Given the description of an element on the screen output the (x, y) to click on. 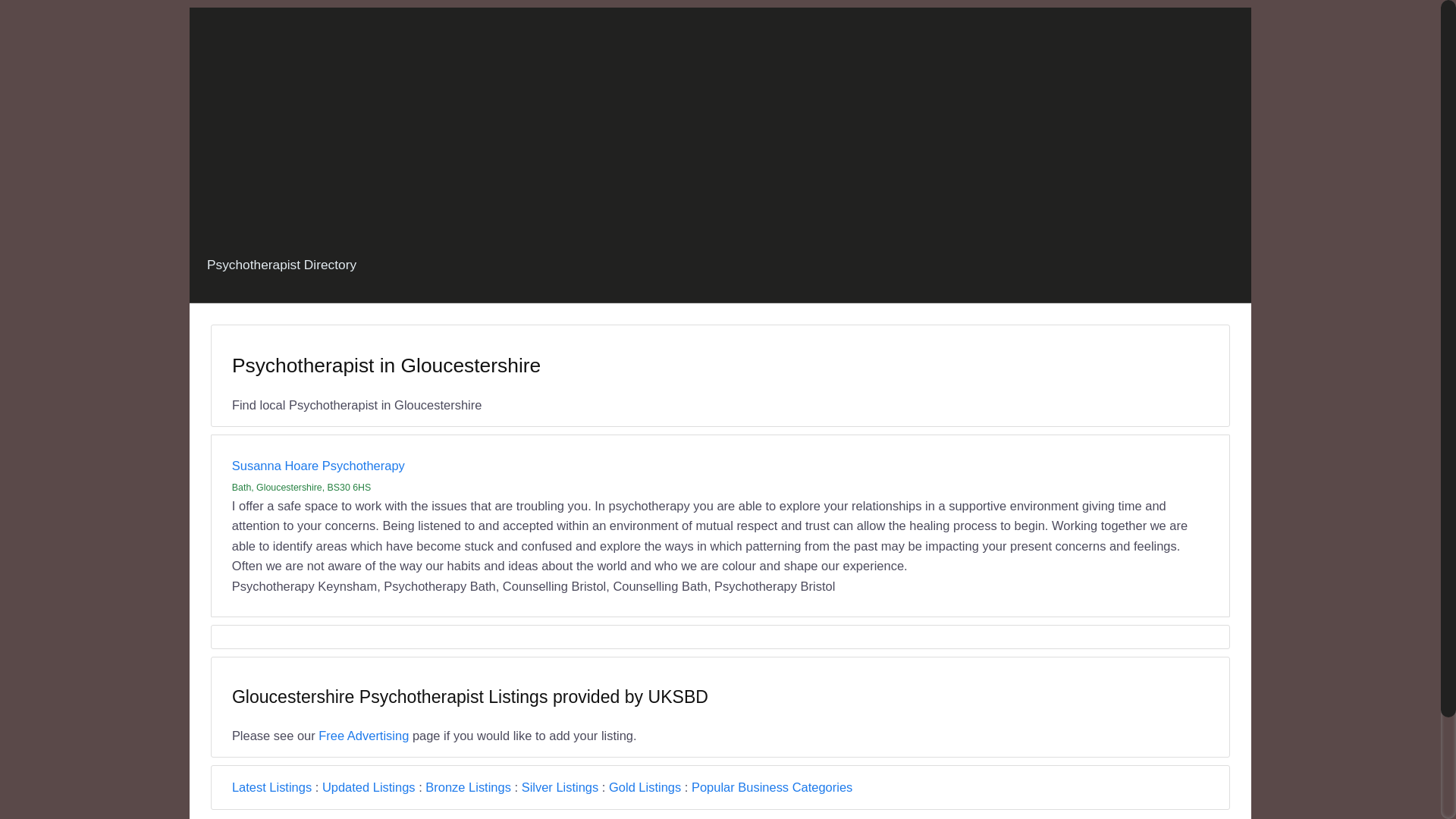
Free Advertising (363, 735)
Silver Listings (559, 786)
Psychotherapist Directory (281, 264)
Bronze Listings (468, 786)
Popular Business Categories (771, 786)
Susanna Hoare Psychotherapy (317, 465)
Updated Listings (367, 786)
Latest Listings (271, 786)
Gold Listings (644, 786)
